Given the description of an element on the screen output the (x, y) to click on. 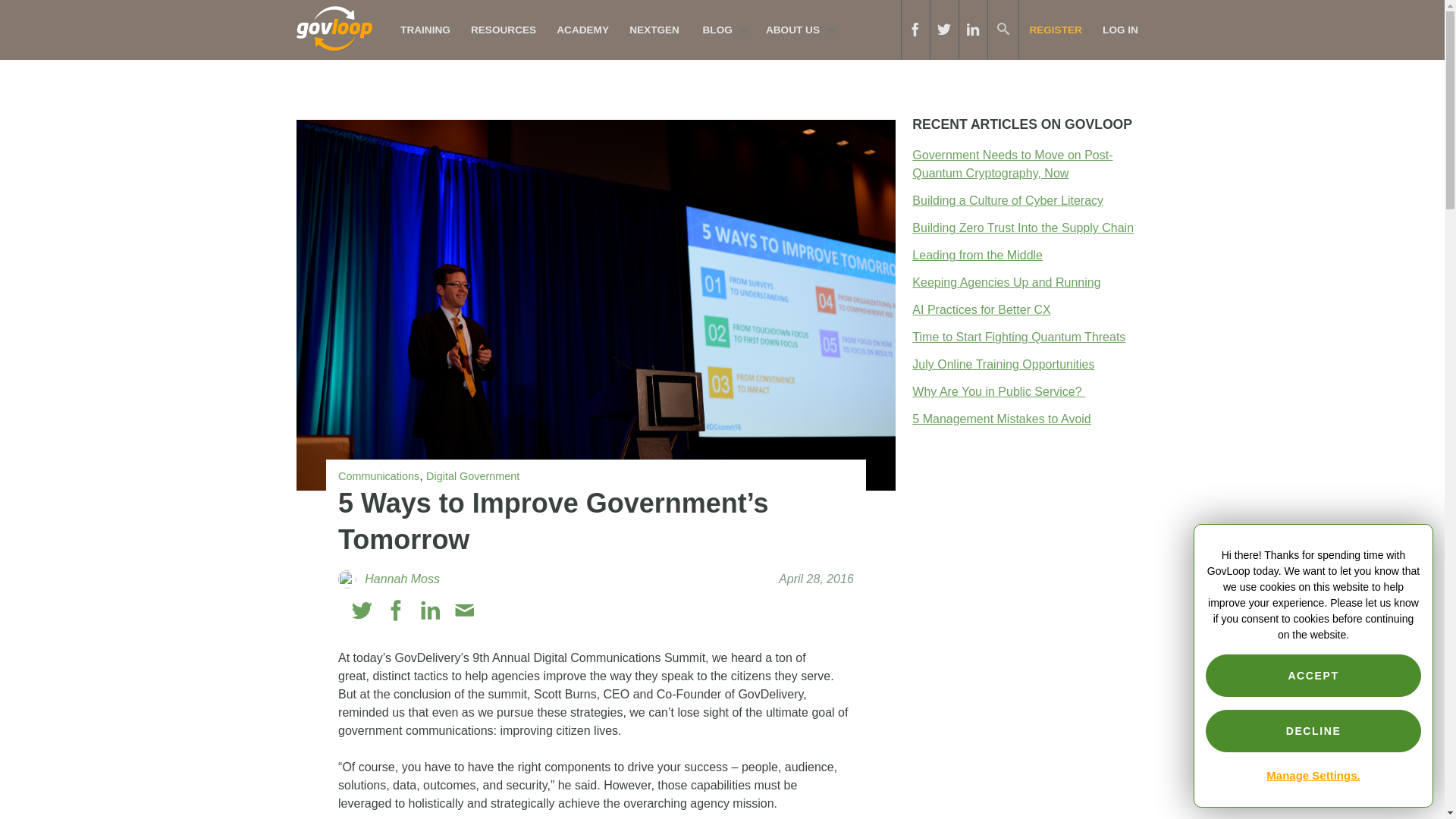
ABOUT US (796, 29)
Email (464, 610)
Communications (378, 476)
NEXTGEN (655, 29)
RESOURCES (503, 29)
REGISTER (1056, 29)
Print (497, 610)
BLOG (721, 29)
TRAINING (425, 29)
Linkedin (430, 610)
LOG IN (1120, 29)
Facebook (395, 610)
ACADEMY (583, 29)
Twitter (362, 610)
